Given the description of an element on the screen output the (x, y) to click on. 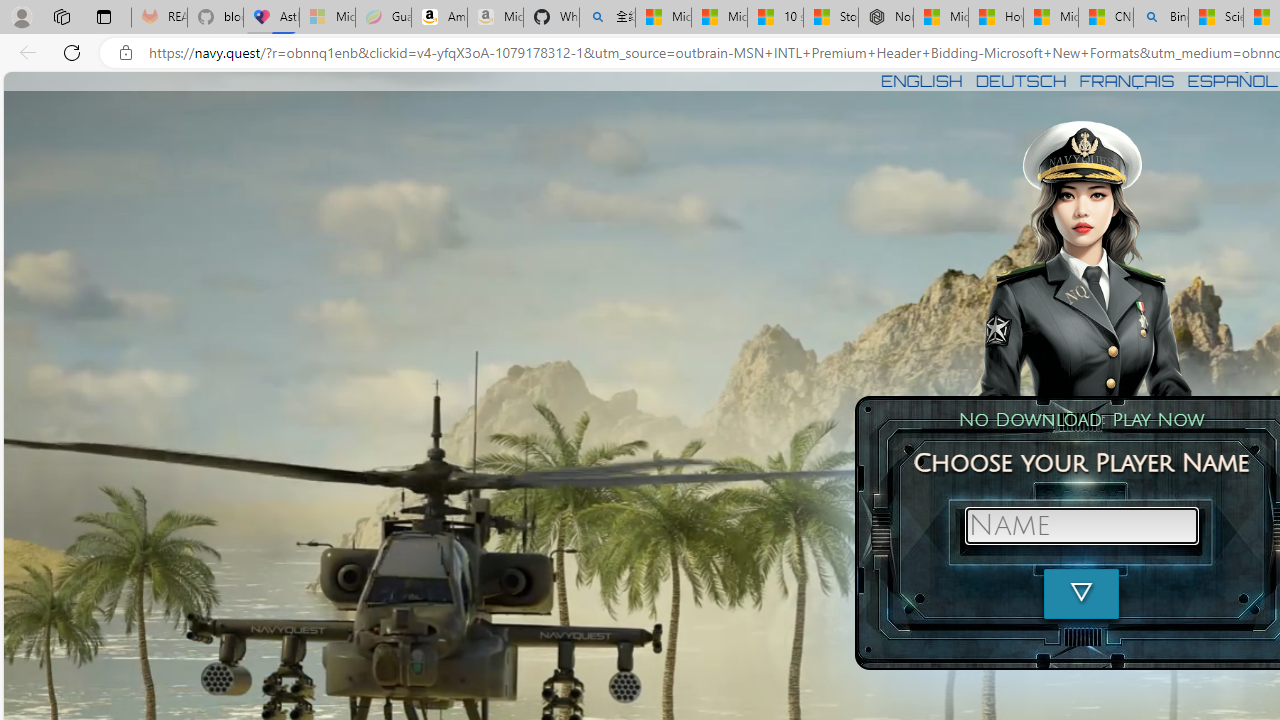
How I Got Rid of Microsoft Edge's Unnecessary Features (995, 17)
Personal Profile (21, 16)
CNN - MSN (1105, 17)
To get missing image descriptions, open the context menu. (1083, 256)
Bing (1160, 17)
ENGLISH (921, 80)
Asthma Inhalers: Names and Types (271, 17)
Nordace - Nordace Siena Is Not An Ordinary Backpack (885, 17)
Workspaces (61, 16)
Microsoft Start (1050, 17)
